Given the description of an element on the screen output the (x, y) to click on. 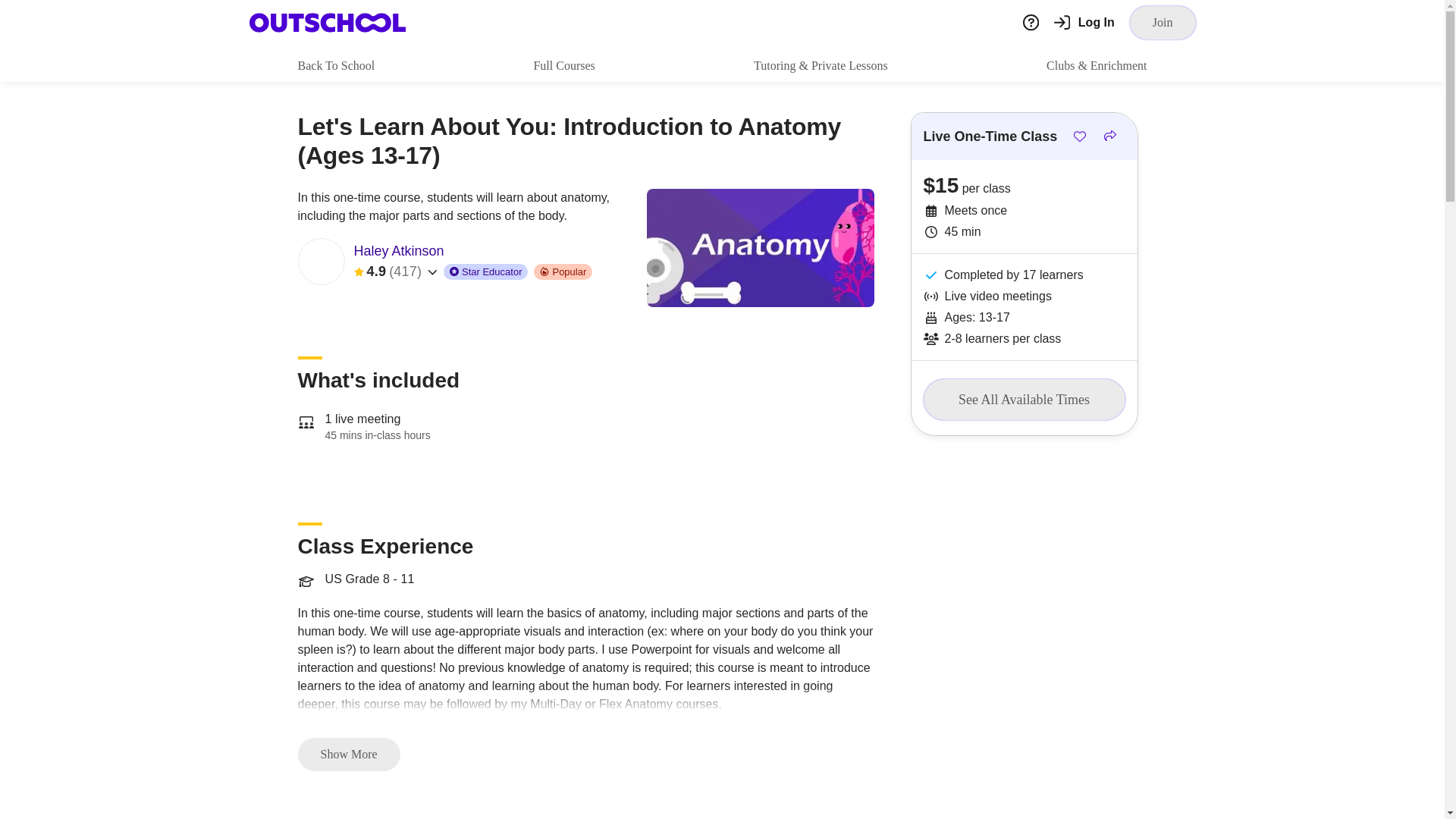
Log In (1084, 22)
Full Courses (563, 65)
Join (1162, 22)
See All Available Times (1024, 399)
Back To School (335, 65)
Show More (347, 754)
